Given the description of an element on the screen output the (x, y) to click on. 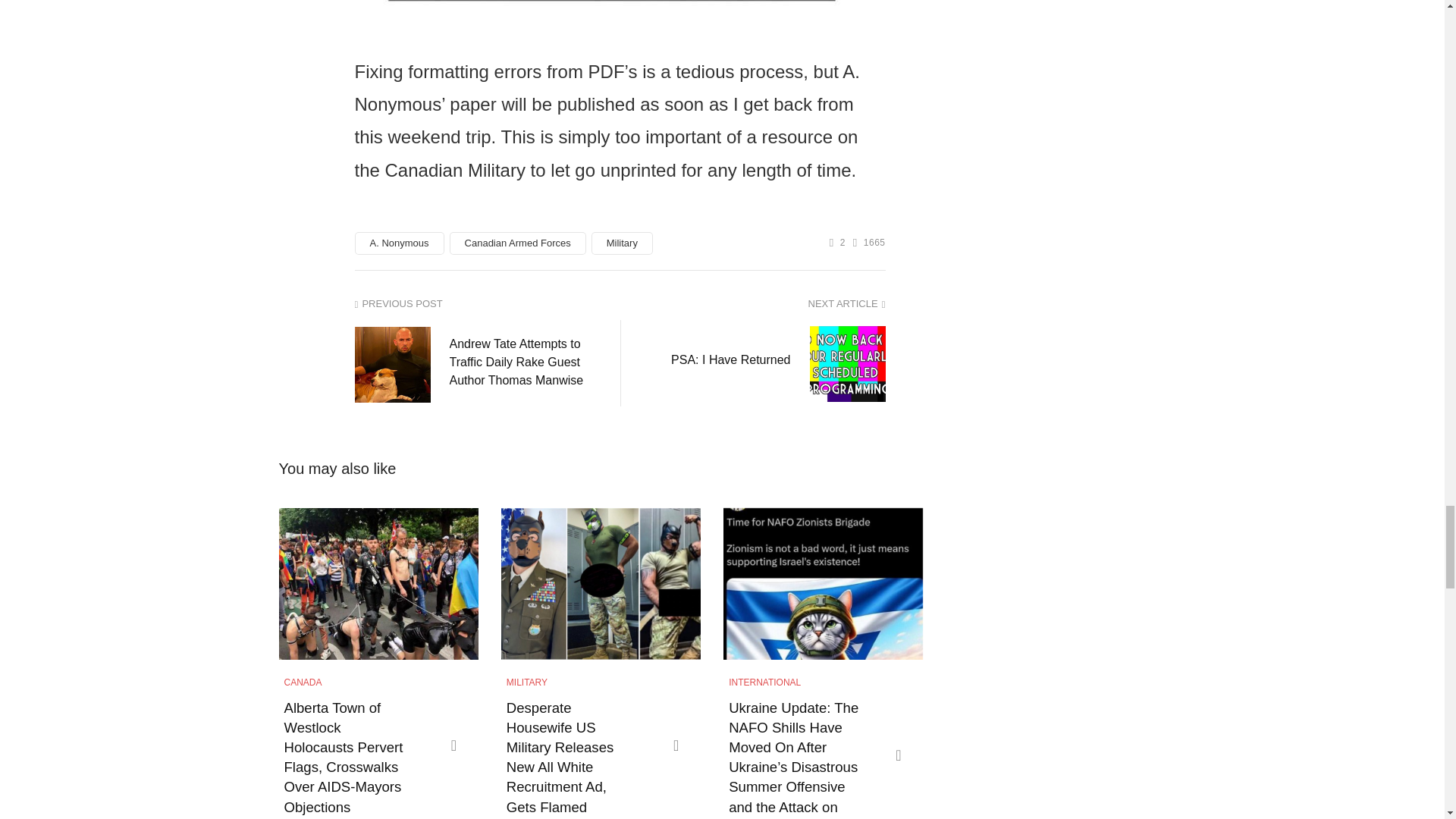
MILITARY (526, 682)
A. Nonymous (399, 242)
PSA: I Have Returned (730, 360)
NEXT ARTICLE (757, 304)
Canadian Armed Forces (517, 242)
Military (621, 242)
CANADA (302, 682)
PREVIOUS POST (481, 304)
